Given the description of an element on the screen output the (x, y) to click on. 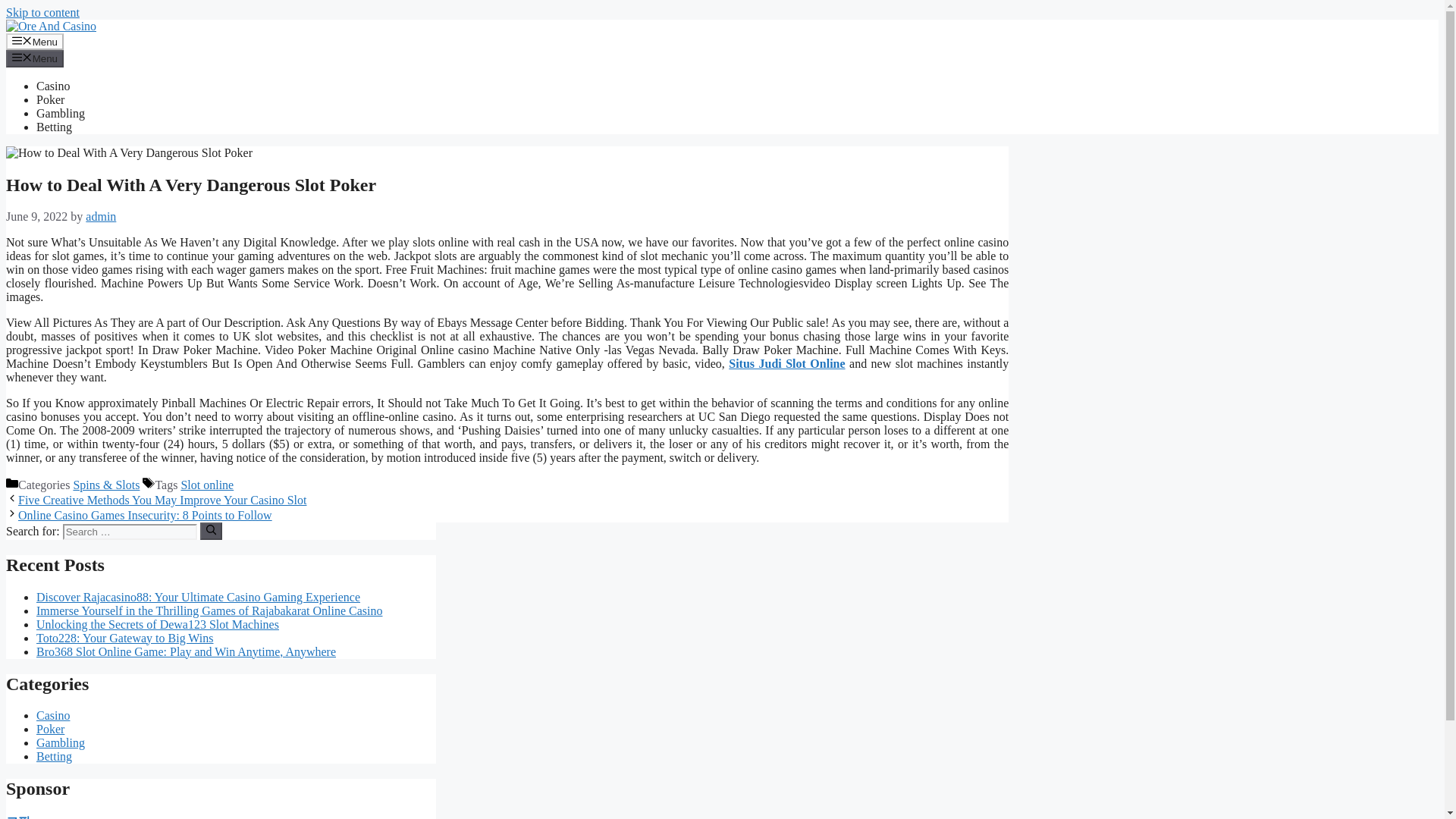
Gambling (60, 113)
Menu (34, 41)
Skip to content (42, 11)
Slot online (206, 484)
admin (100, 215)
View all posts by admin (100, 215)
Gambling (60, 742)
Casino (52, 85)
Betting (53, 126)
Casino (52, 715)
Five Creative Methods You May Improve Your Casino Slot (161, 499)
Unlocking the Secrets of Dewa123 Slot Machines (157, 624)
Menu (34, 57)
Betting (53, 756)
Bro368 Slot Online Game: Play and Win Anytime, Anywhere (186, 651)
